Given the description of an element on the screen output the (x, y) to click on. 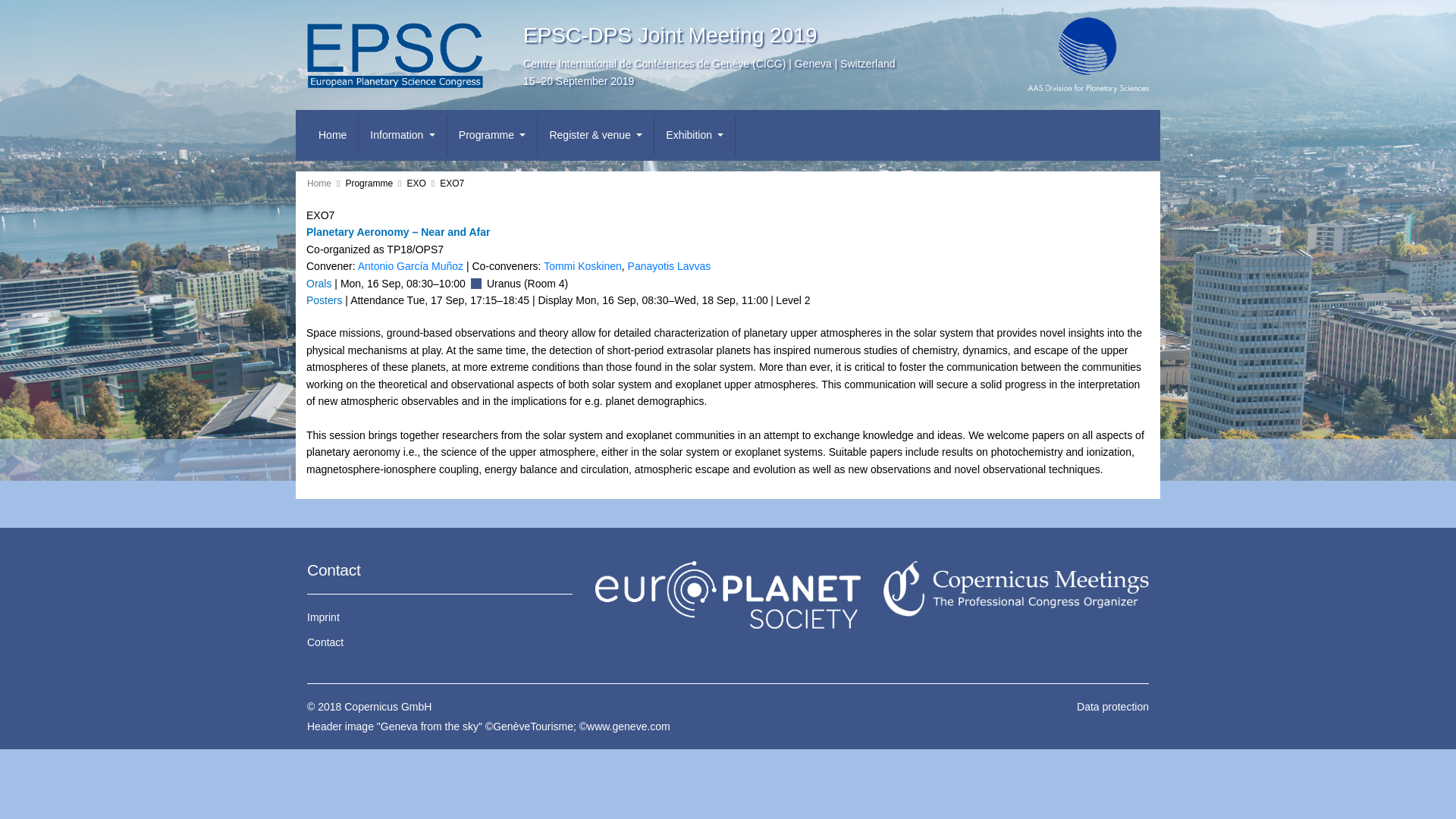
Information (402, 134)
Level 0 (526, 283)
Home (319, 183)
Exhibition (694, 134)
Data protection (1015, 706)
Imprint (439, 617)
Posters (323, 300)
Contact (439, 641)
Public information on Panayotis Lavvas (669, 265)
Panayotis Lavvas (669, 265)
